Given the description of an element on the screen output the (x, y) to click on. 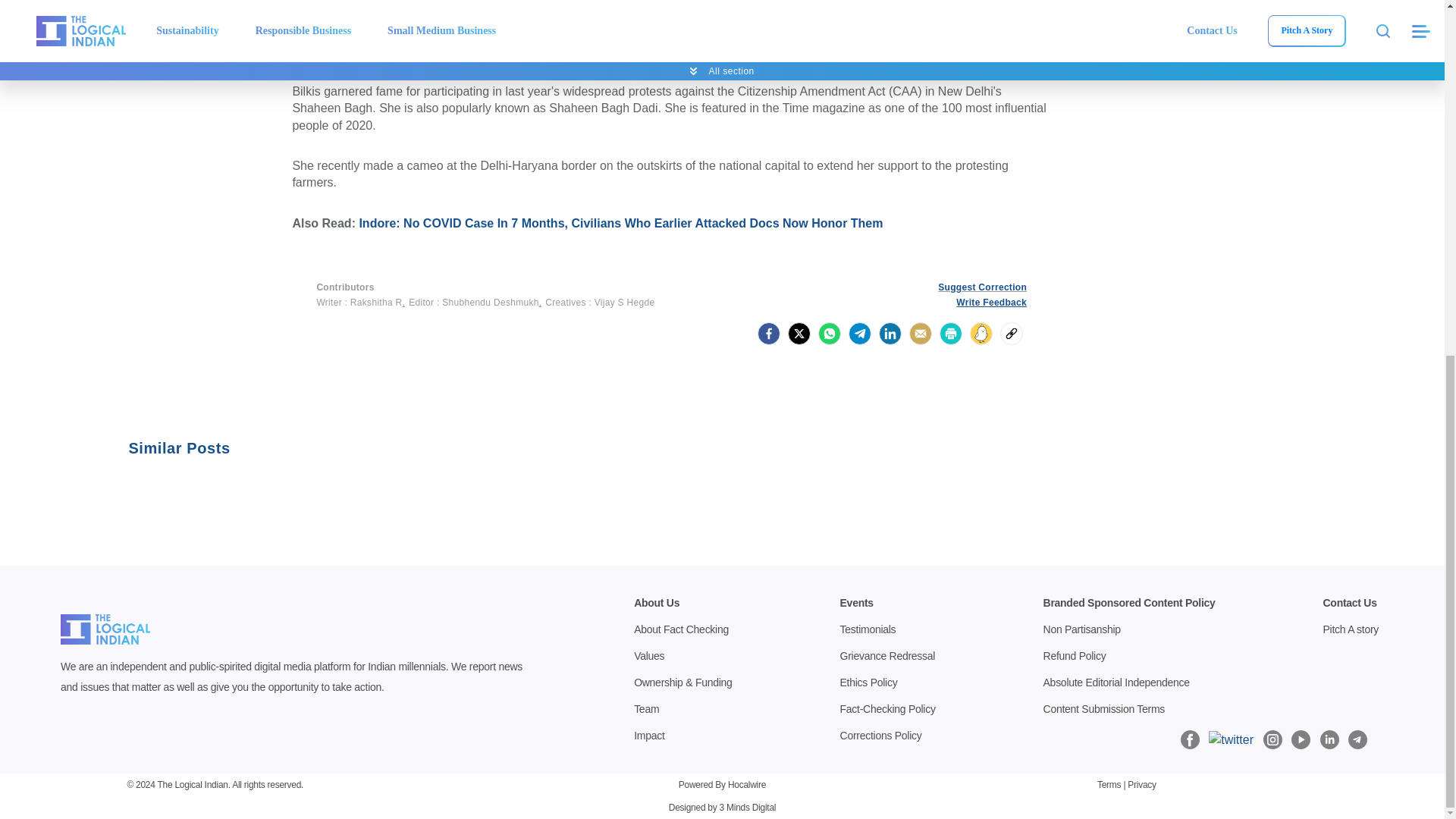
LinkedIn (890, 333)
Share by Email (919, 333)
